Given the description of an element on the screen output the (x, y) to click on. 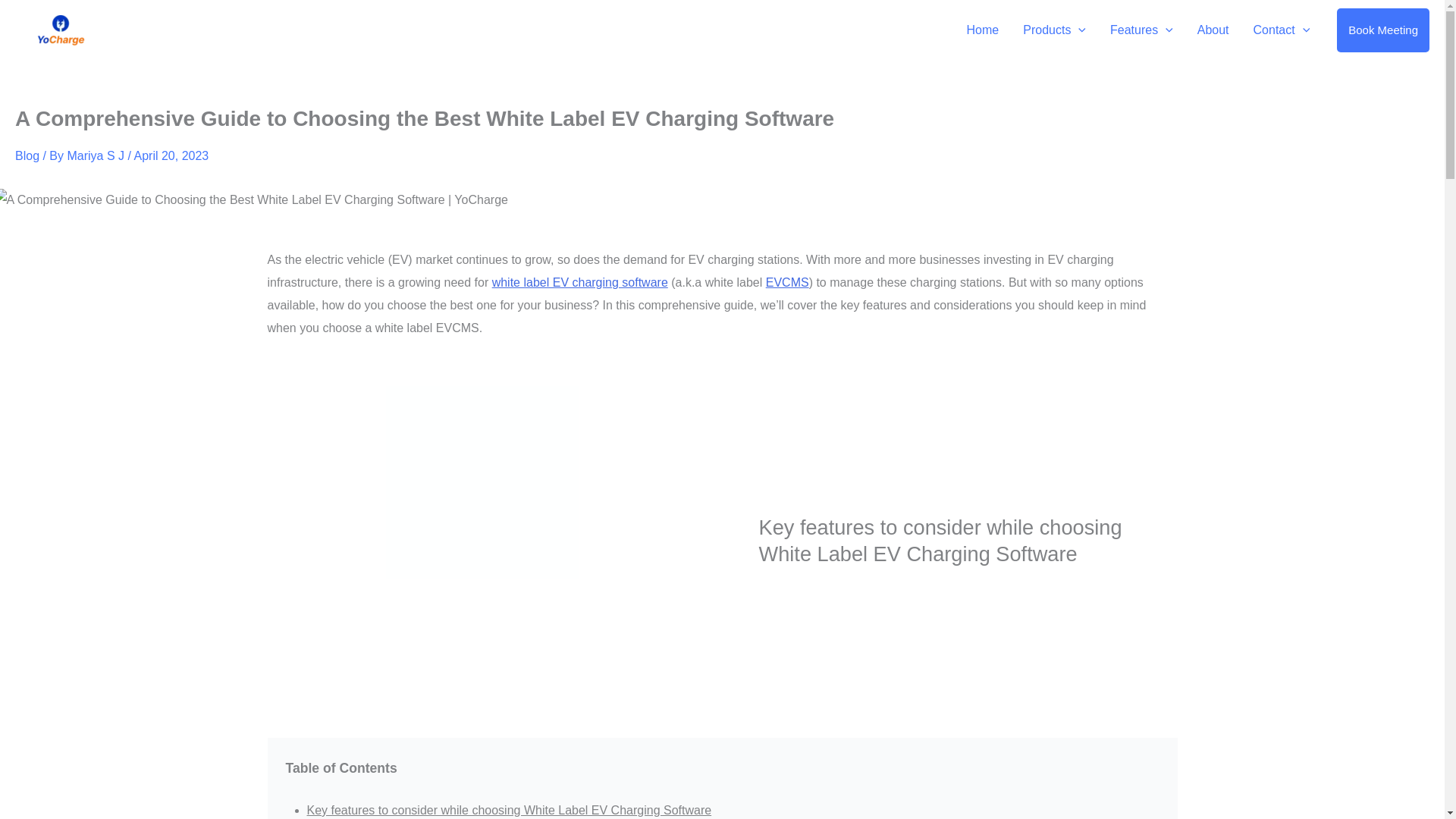
About (1213, 30)
Book Meeting (1382, 30)
Features (1141, 30)
Home (983, 30)
View all posts by Mariya S J (97, 155)
Contact (1281, 30)
Products (1053, 30)
